Given the description of an element on the screen output the (x, y) to click on. 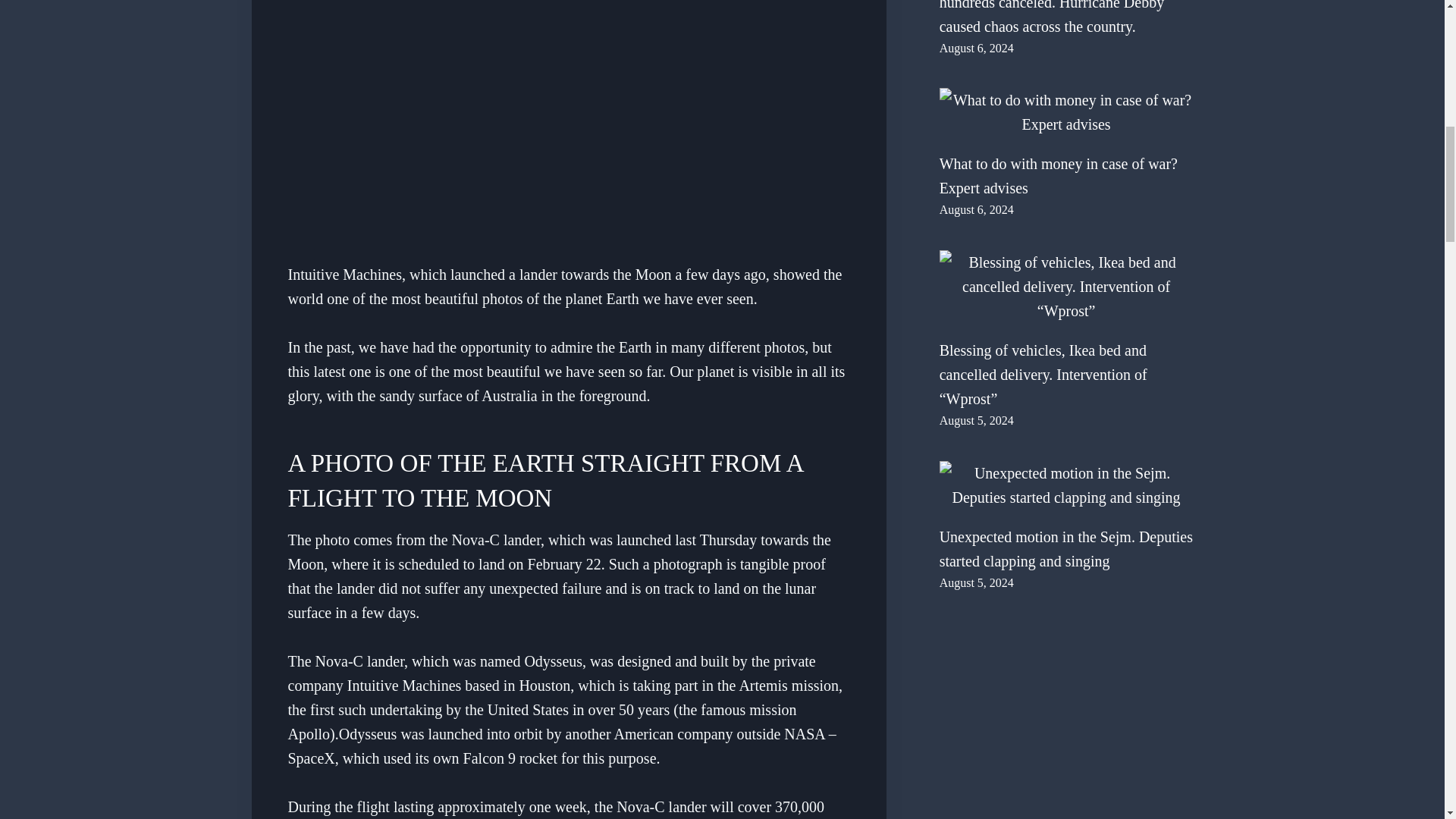
August 5, 2024 (976, 420)
1:26 am (976, 209)
What to do with money in case of war? Expert advises (1066, 111)
August 6, 2024 (976, 209)
August 6, 2024 (976, 47)
2:26 am (976, 47)
6:26 pm (976, 582)
August 5, 2024 (976, 582)
